Given the description of an element on the screen output the (x, y) to click on. 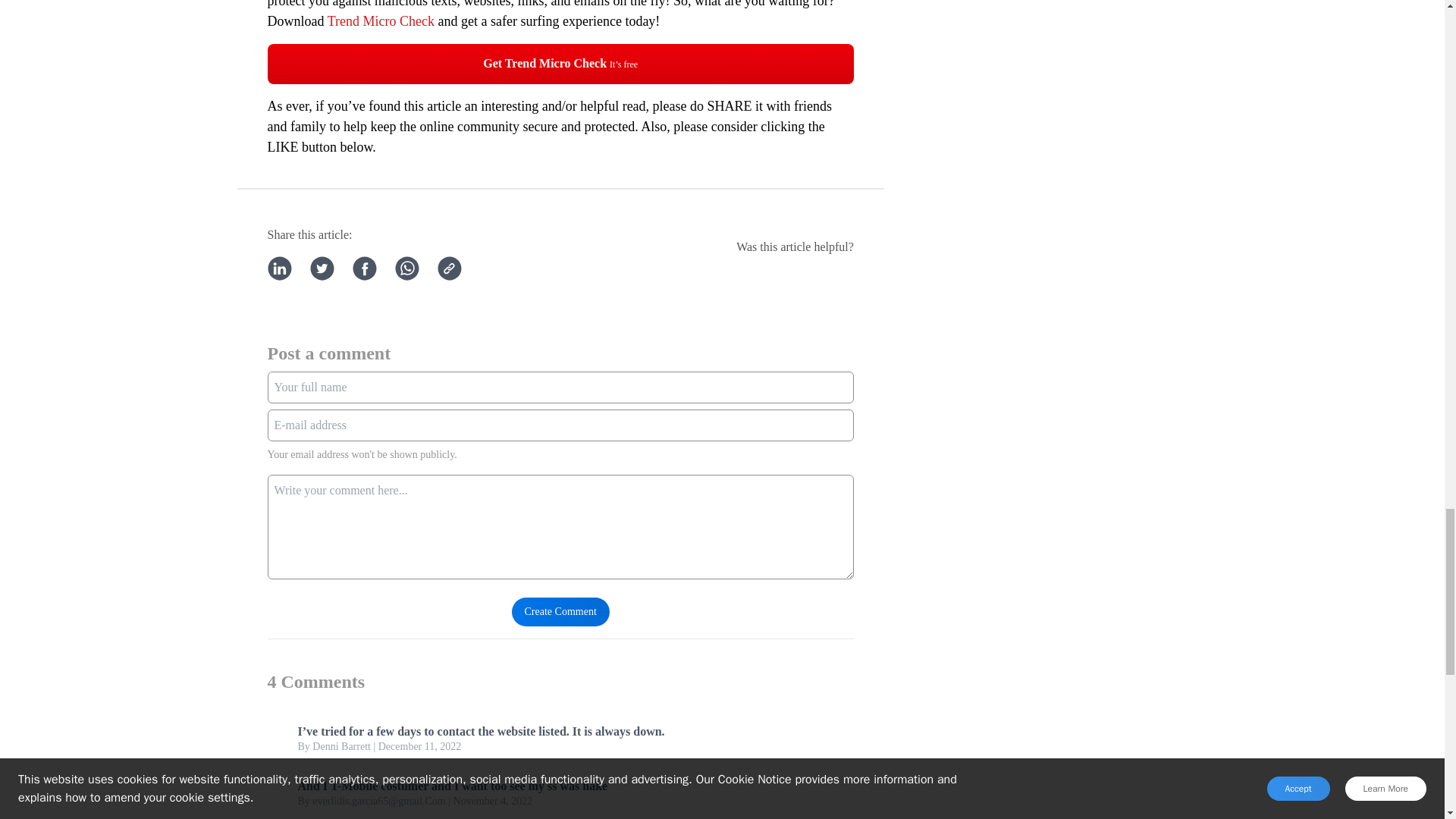
Share to WhatsApp (406, 268)
Share to Twitter (320, 268)
Create Comment (561, 611)
Trend Micro Check (380, 20)
Share to LinkedIn (278, 268)
Share to Facebook (363, 268)
